Given the description of an element on the screen output the (x, y) to click on. 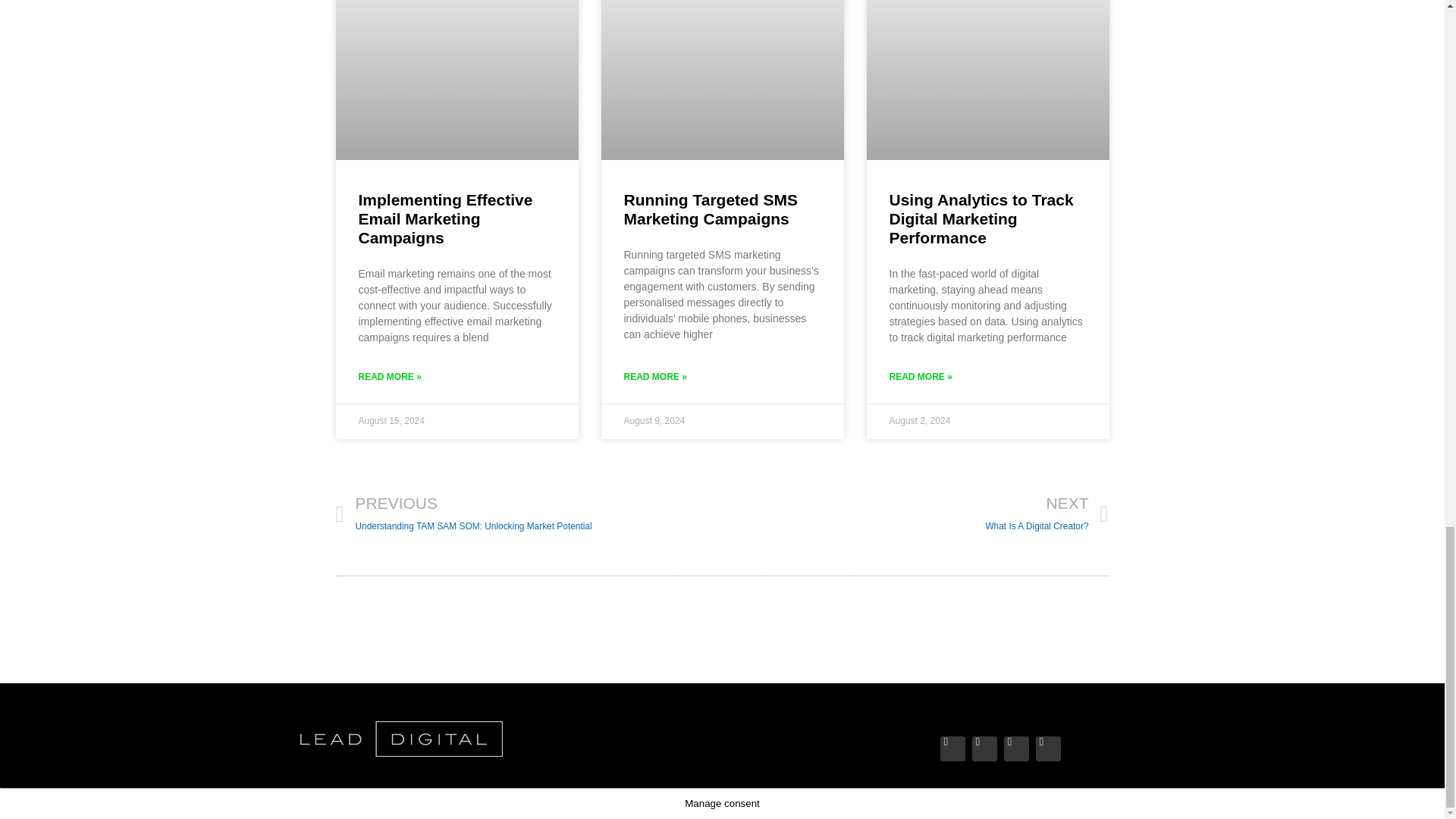
Implementing Effective Email Marketing Campaigns (445, 218)
Using Analytics to Track Digital Marketing Performance (980, 218)
Running Targeted SMS Marketing Campaigns (915, 514)
